Given the description of an element on the screen output the (x, y) to click on. 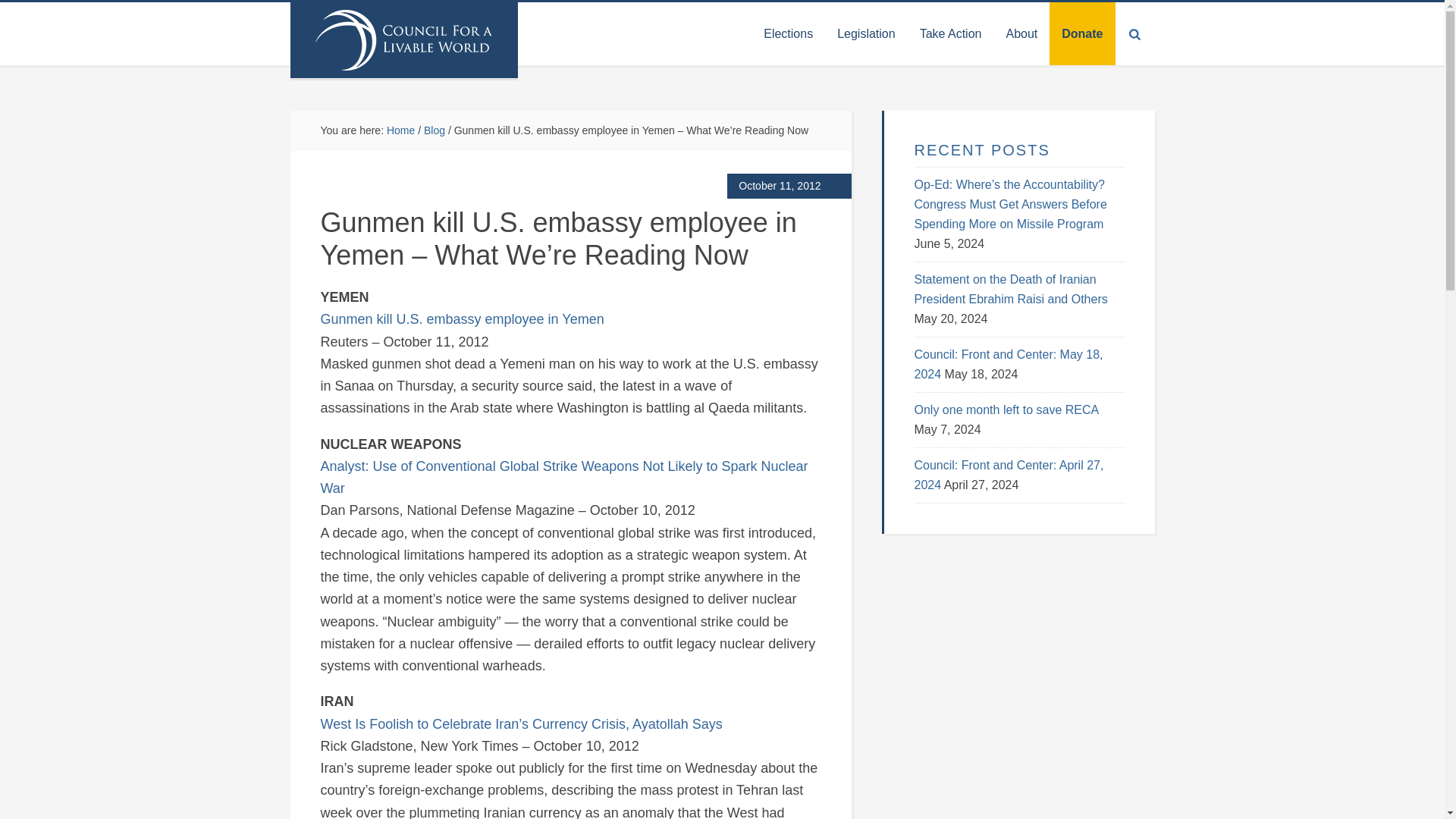
Take Action (950, 33)
Home (400, 130)
Gunmen kill U.S. embassy employee in Yemen (462, 319)
Legislation (866, 33)
COUNCIL FOR A LIVABLE WORLD (402, 39)
Blog (434, 130)
Elections (788, 33)
Donate (1082, 33)
About (1020, 33)
